Given the description of an element on the screen output the (x, y) to click on. 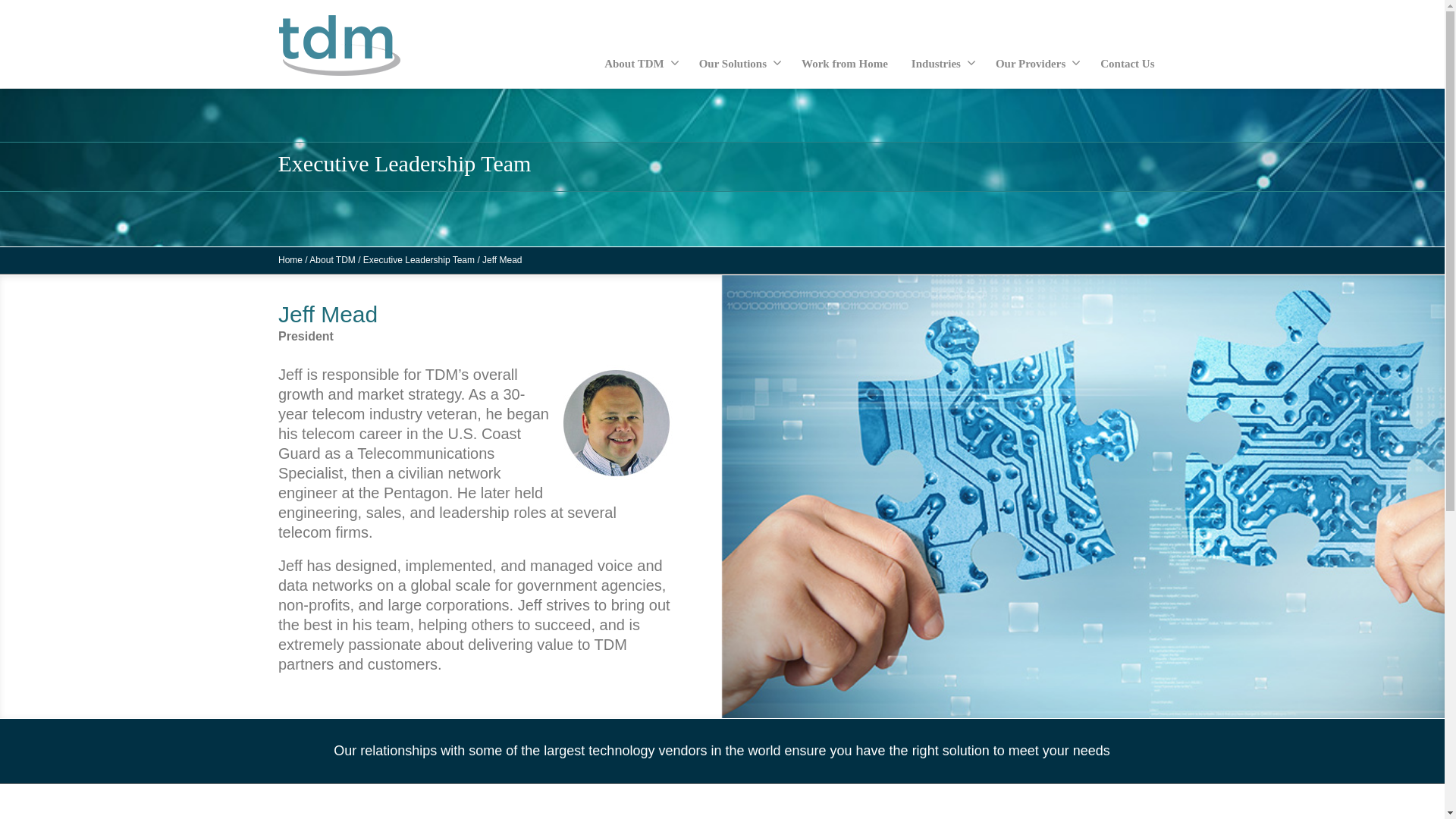
Executive Leadership Team Element type: text (418, 259)
Our Providers Element type: text (1036, 64)
About TDM Element type: text (640, 64)
Industries Element type: text (941, 64)
Our Solutions Element type: text (738, 64)
Contact Us Element type: text (1126, 64)
About TDM Element type: text (331, 259)
Home Element type: text (290, 259)
Work from Home Element type: text (844, 64)
